Given the description of an element on the screen output the (x, y) to click on. 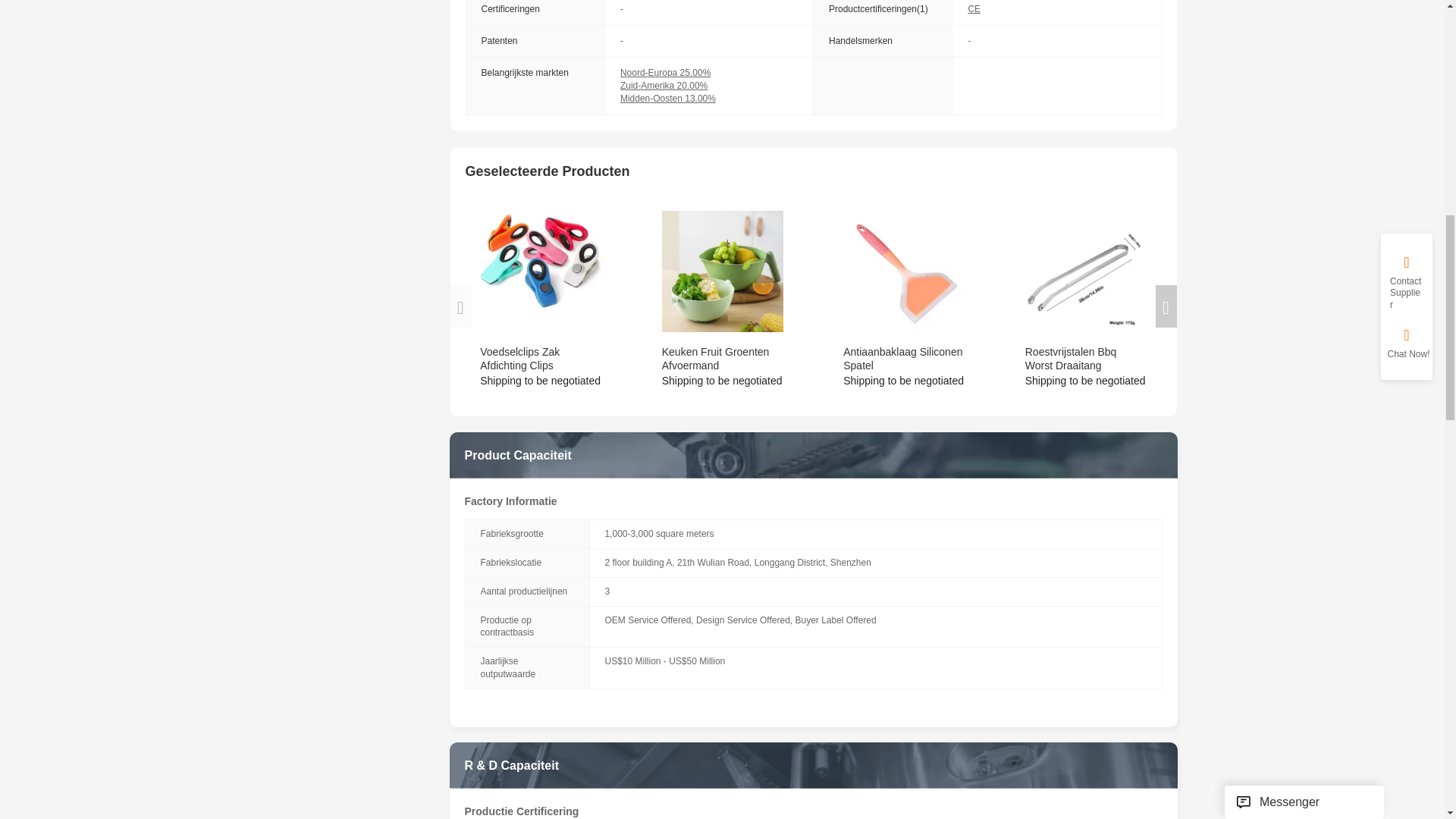
CE (973, 9)
